Given the description of an element on the screen output the (x, y) to click on. 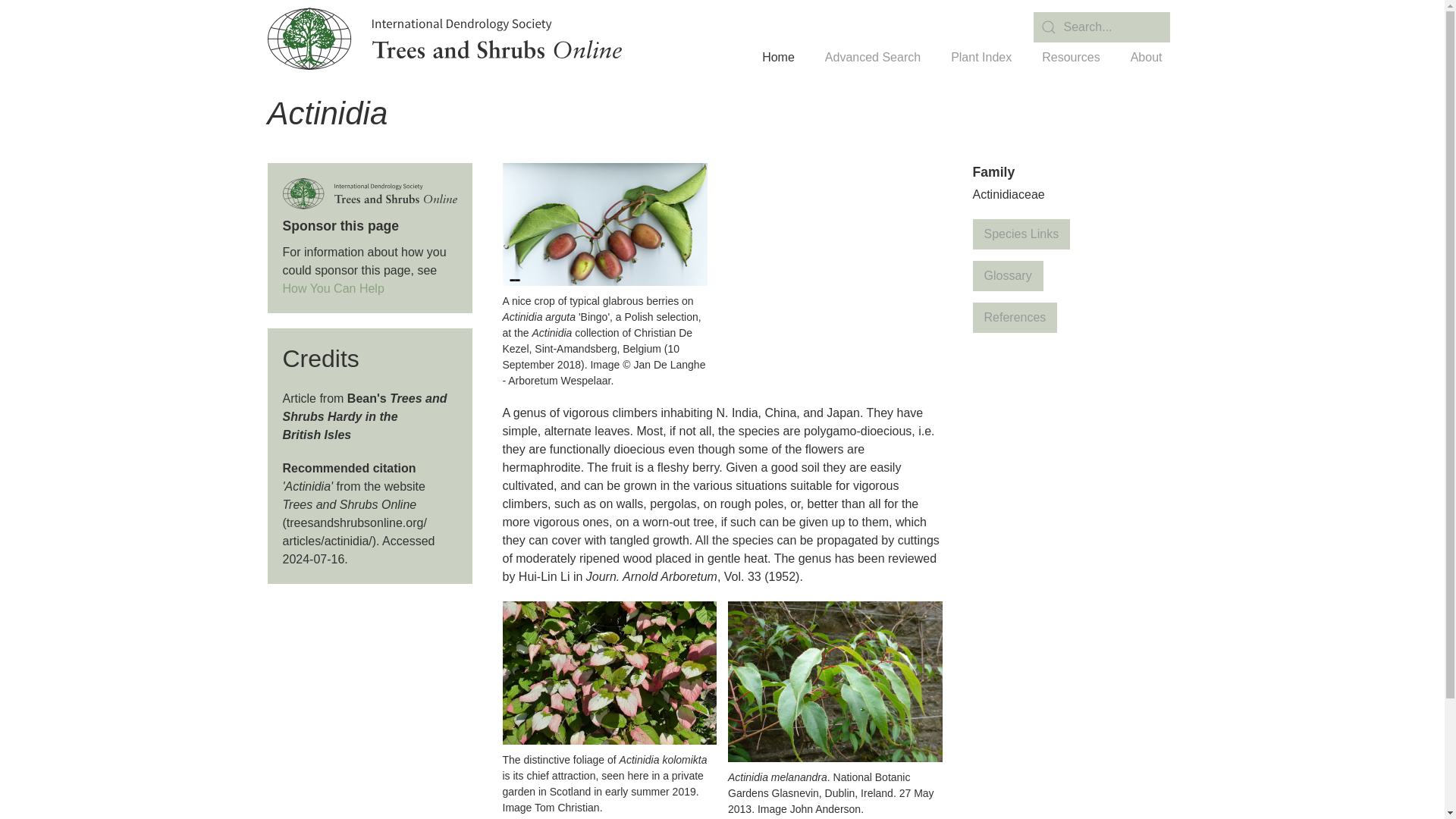
Plant Index (981, 57)
Home (777, 57)
Species Links (1021, 234)
Resources (1070, 57)
How You Can Help (333, 287)
Glossary (1007, 276)
References (1014, 317)
Advanced Search (872, 57)
About (1146, 57)
